Given the description of an element on the screen output the (x, y) to click on. 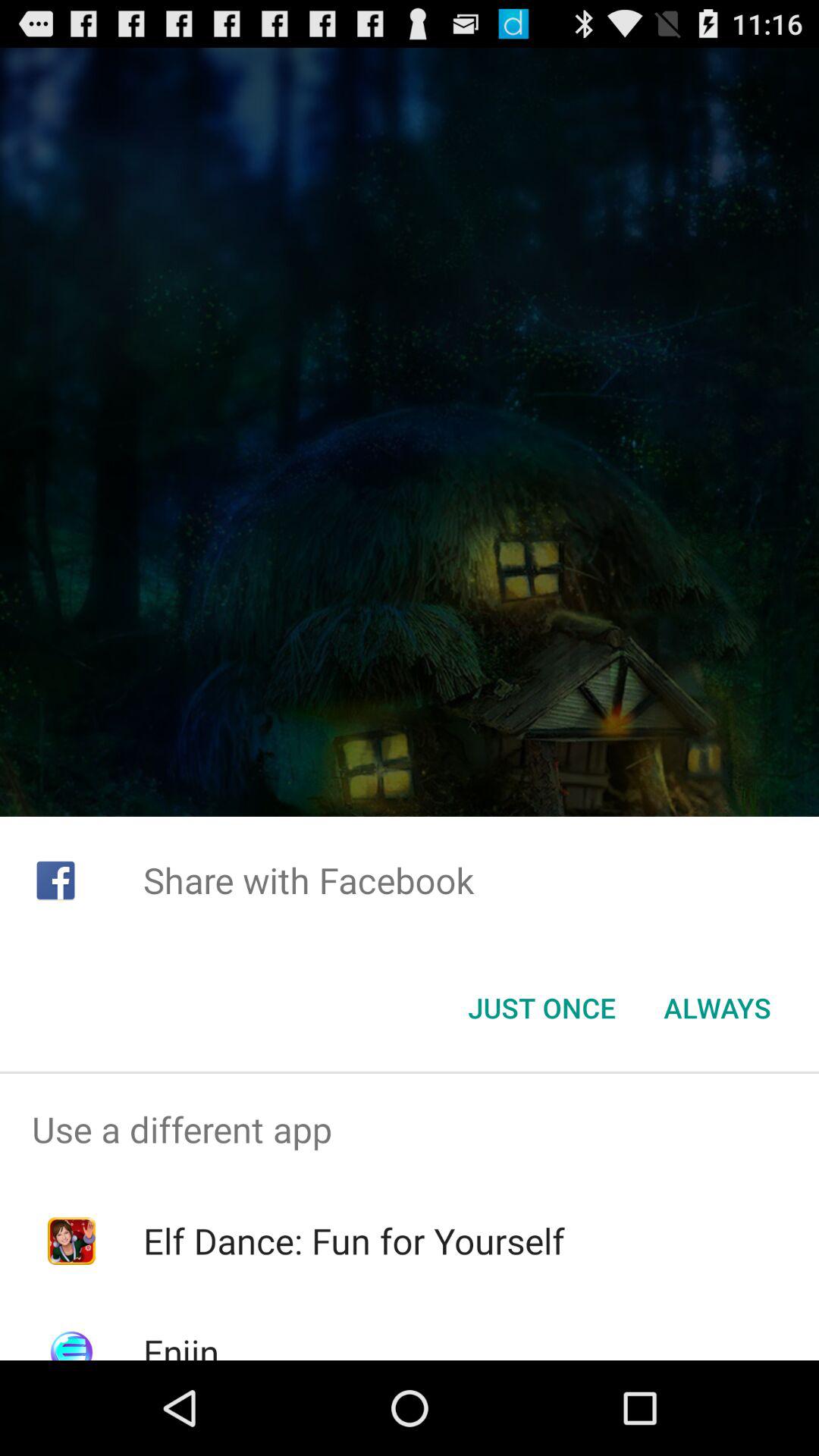
open the item below the use a different (353, 1240)
